Given the description of an element on the screen output the (x, y) to click on. 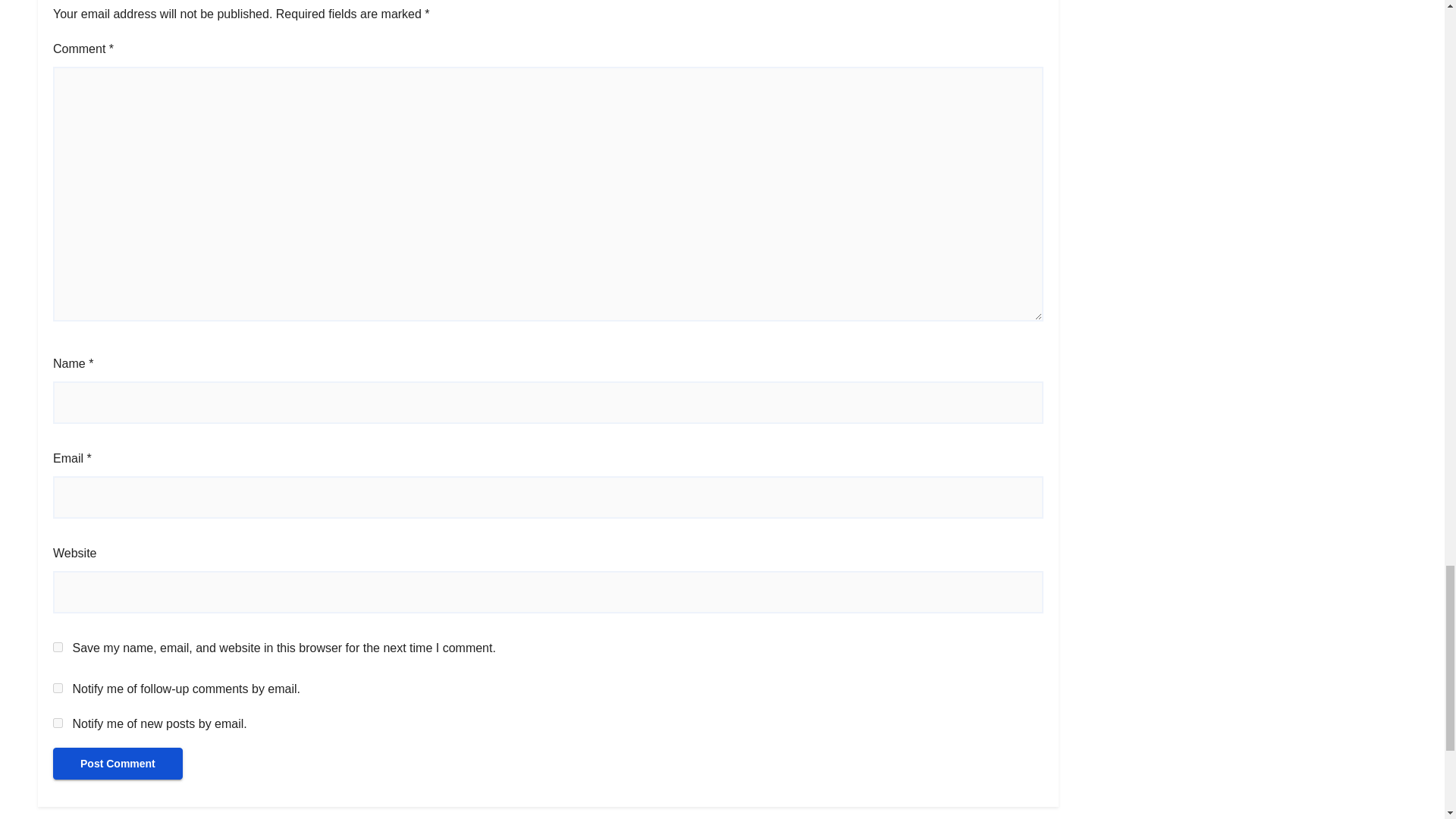
subscribe (57, 687)
Post Comment (117, 763)
yes (57, 646)
subscribe (57, 723)
